Given the description of an element on the screen output the (x, y) to click on. 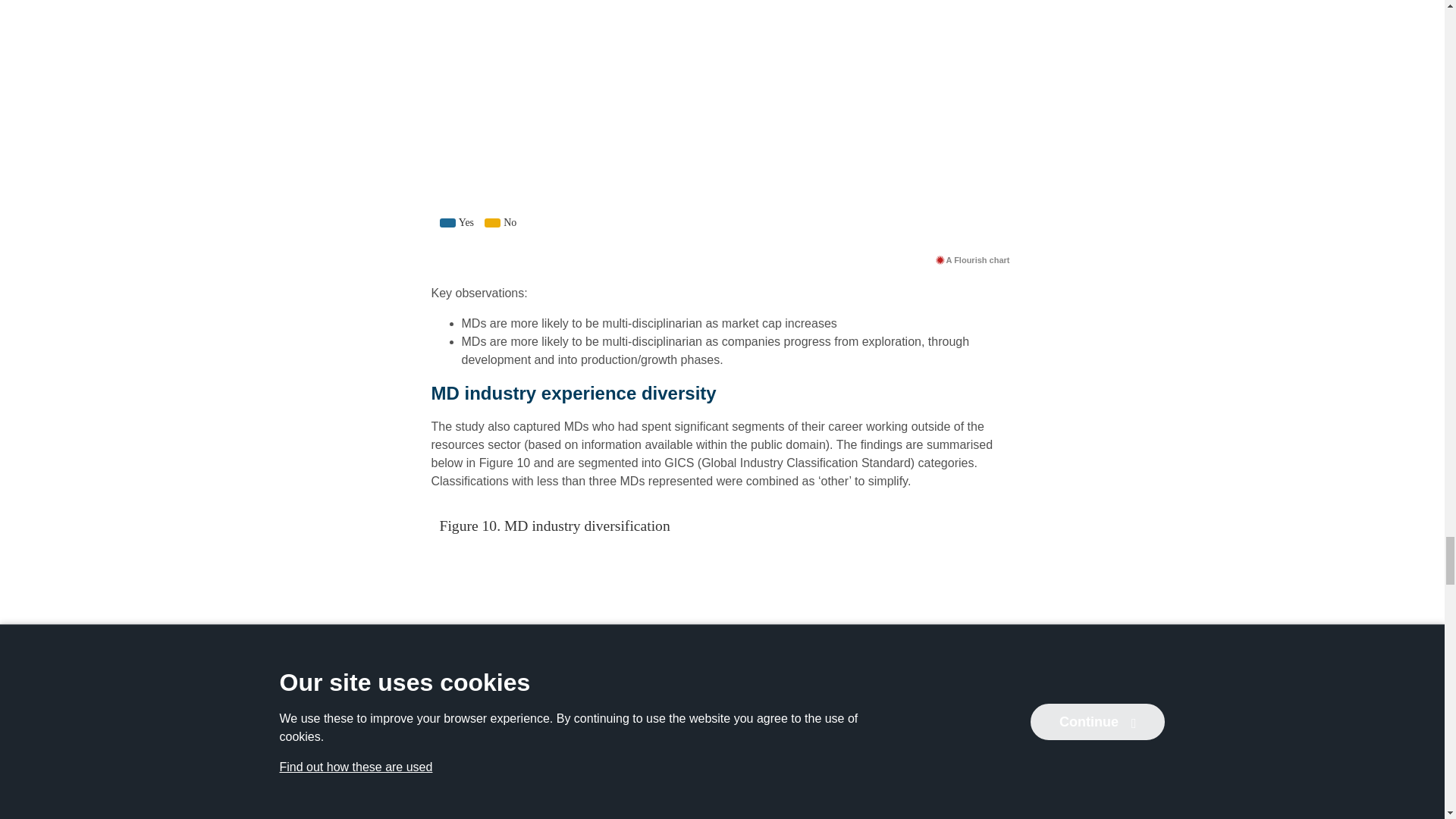
A Flourish chart (972, 259)
